Given the description of an element on the screen output the (x, y) to click on. 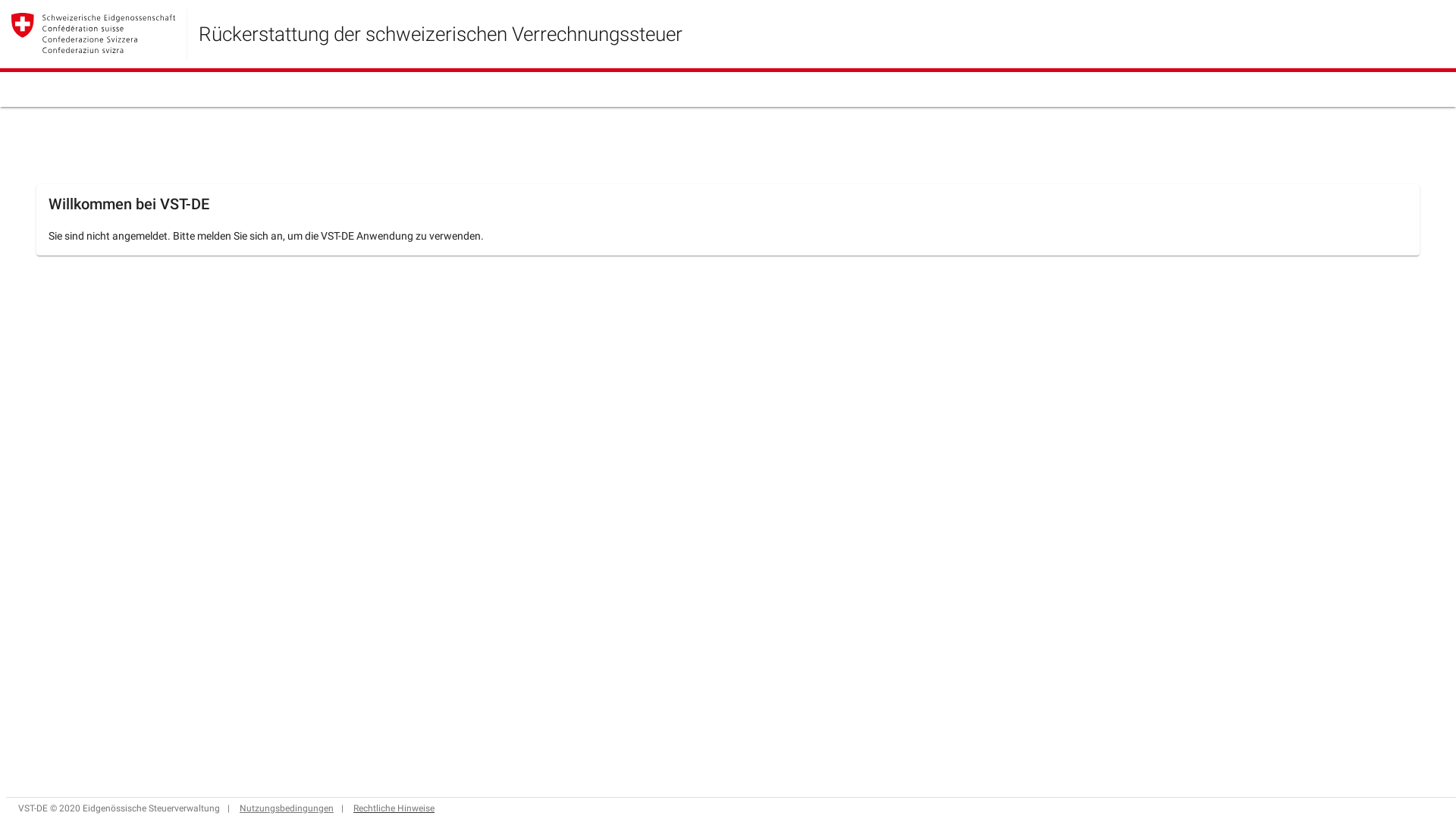
Rechtliche Hinweise Element type: text (393, 808)
